Given the description of an element on the screen output the (x, y) to click on. 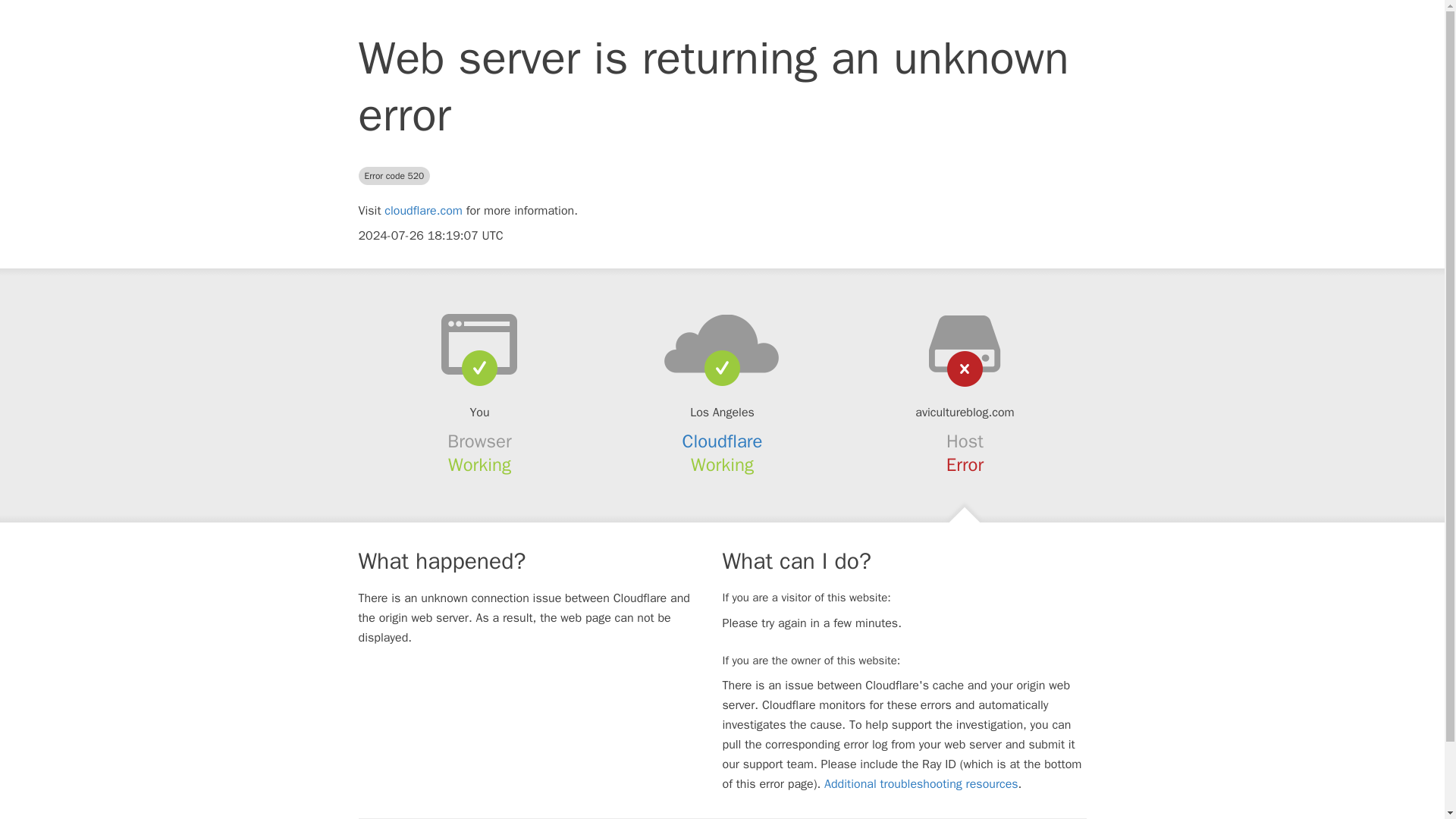
cloudflare.com (423, 210)
Cloudflare (722, 440)
Additional troubleshooting resources (920, 783)
